Given the description of an element on the screen output the (x, y) to click on. 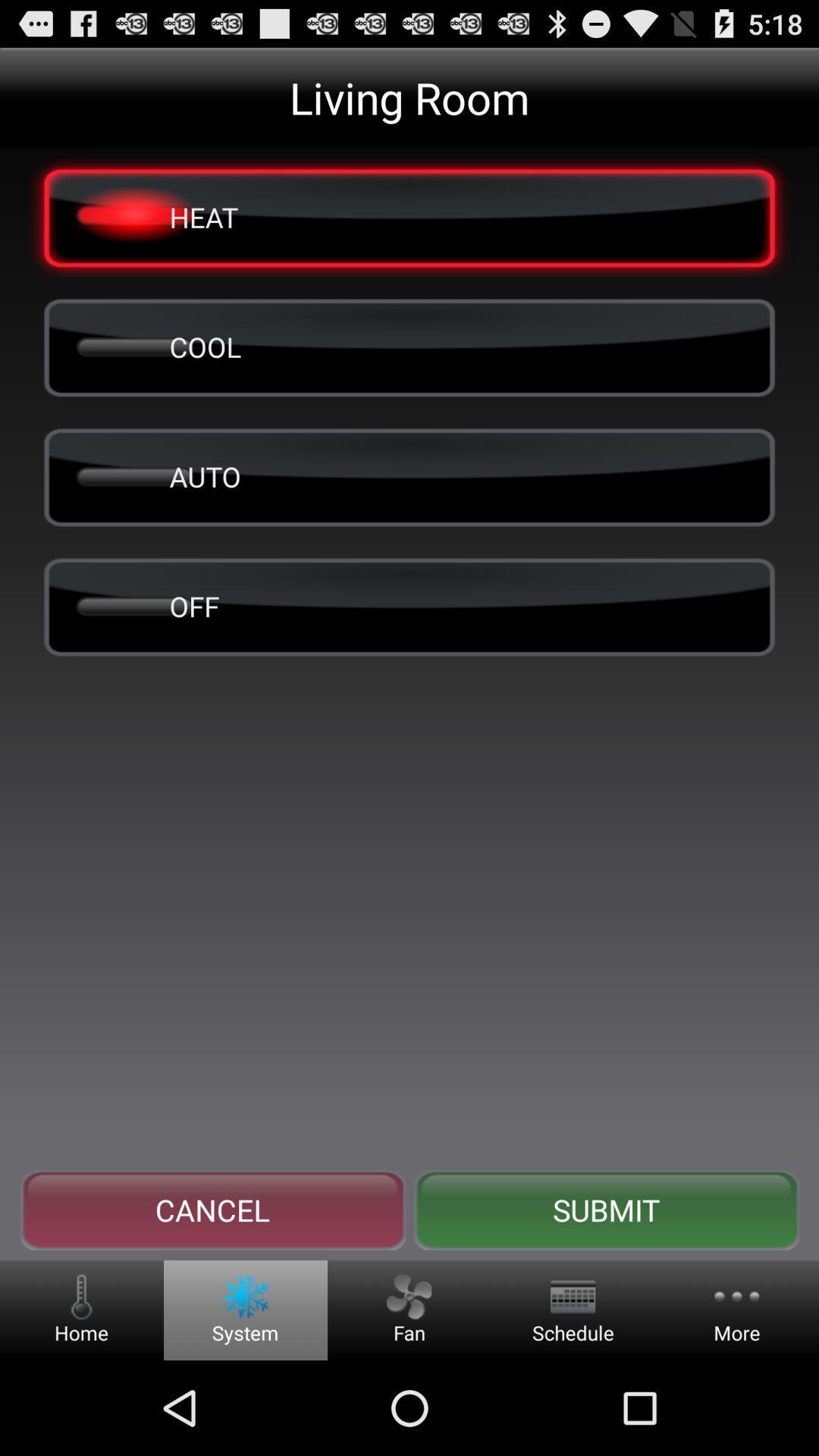
turn on off item (409, 606)
